Given the description of an element on the screen output the (x, y) to click on. 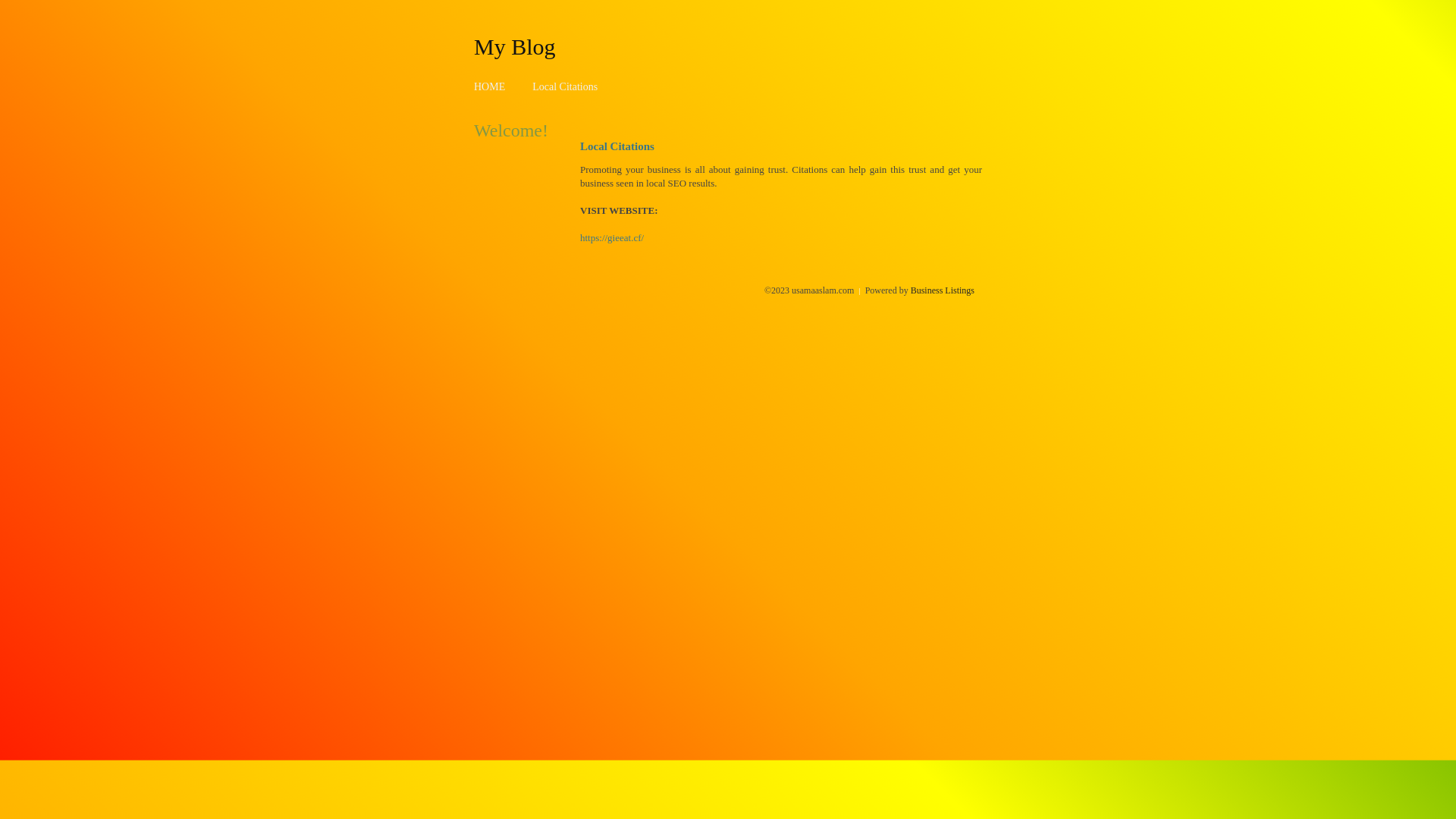
Local Citations Element type: text (564, 86)
Business Listings Element type: text (942, 290)
https://gieeat.cf/ Element type: text (611, 237)
My Blog Element type: text (514, 46)
HOME Element type: text (489, 86)
